Given the description of an element on the screen output the (x, y) to click on. 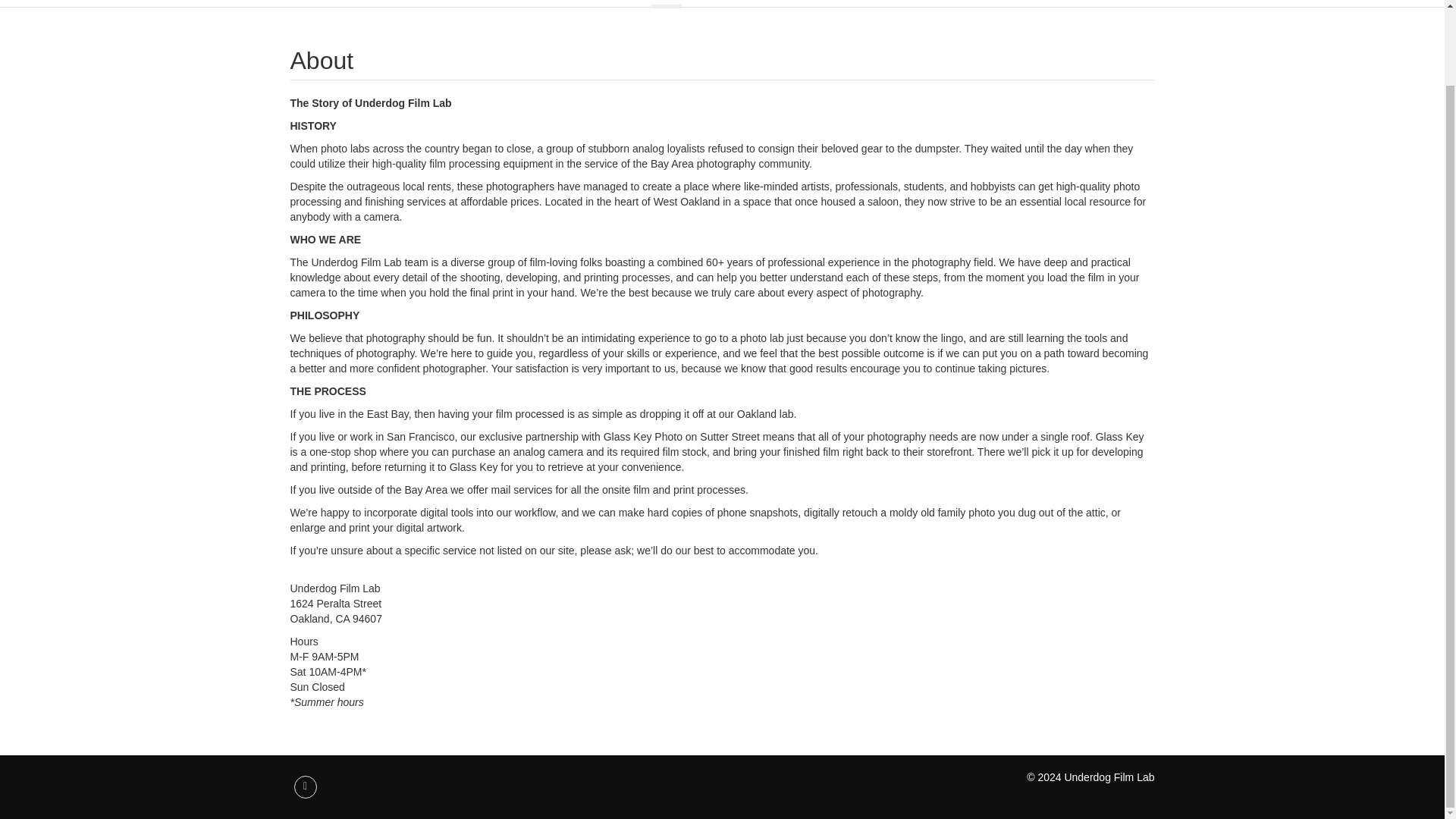
Contact Us (986, 2)
Photo Services (813, 2)
Cart (932, 2)
Home (622, 2)
Start Your Order (551, 2)
Merchandise (728, 2)
Account (886, 2)
About (665, 4)
Underdog Film Lab (368, 1)
